Given the description of an element on the screen output the (x, y) to click on. 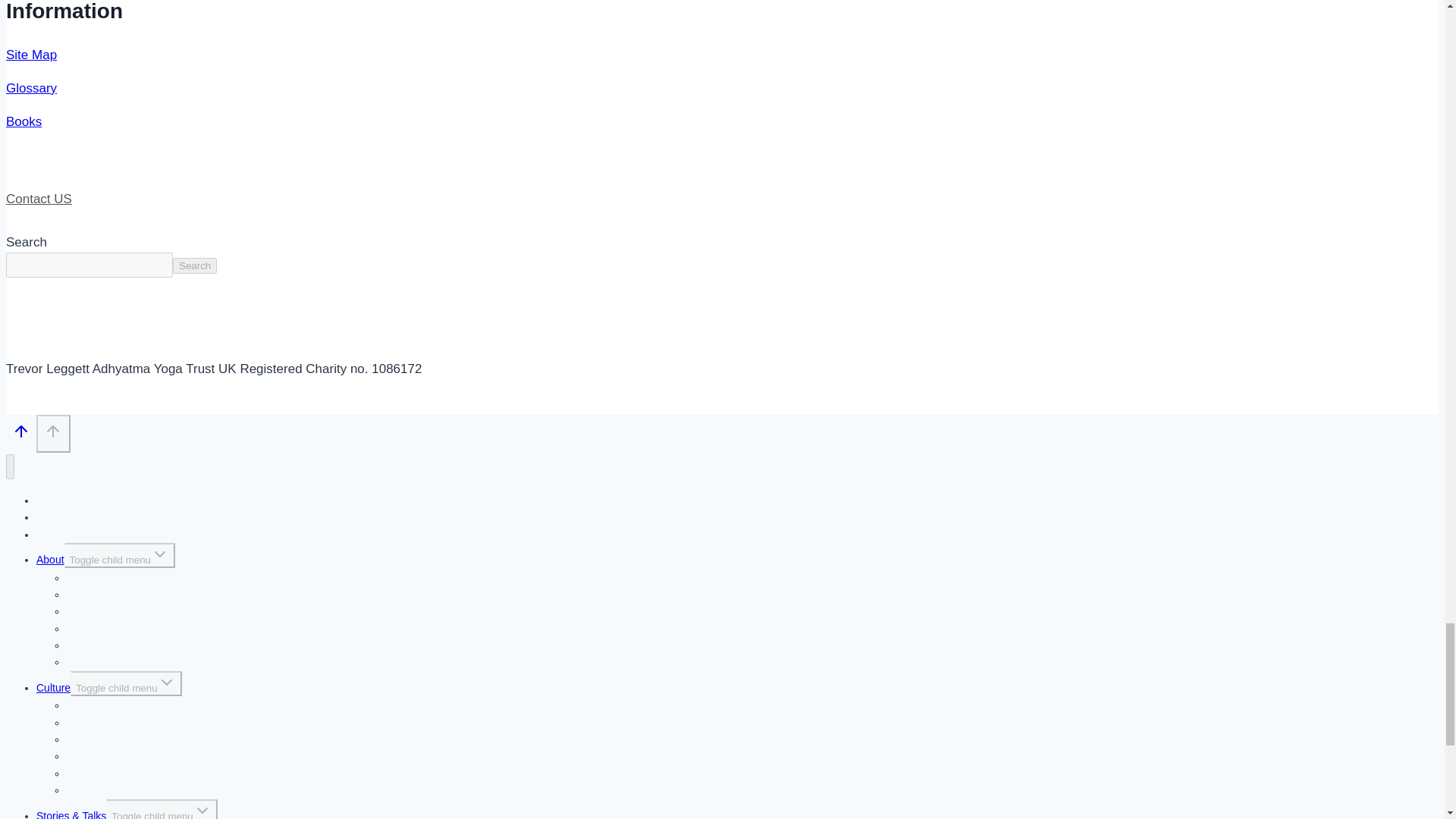
Expand (159, 554)
Scroll to top (52, 433)
Scroll to top (20, 431)
Expand (166, 682)
Scroll to top (52, 431)
Scroll to top (20, 434)
Expand (202, 810)
